Given the description of an element on the screen output the (x, y) to click on. 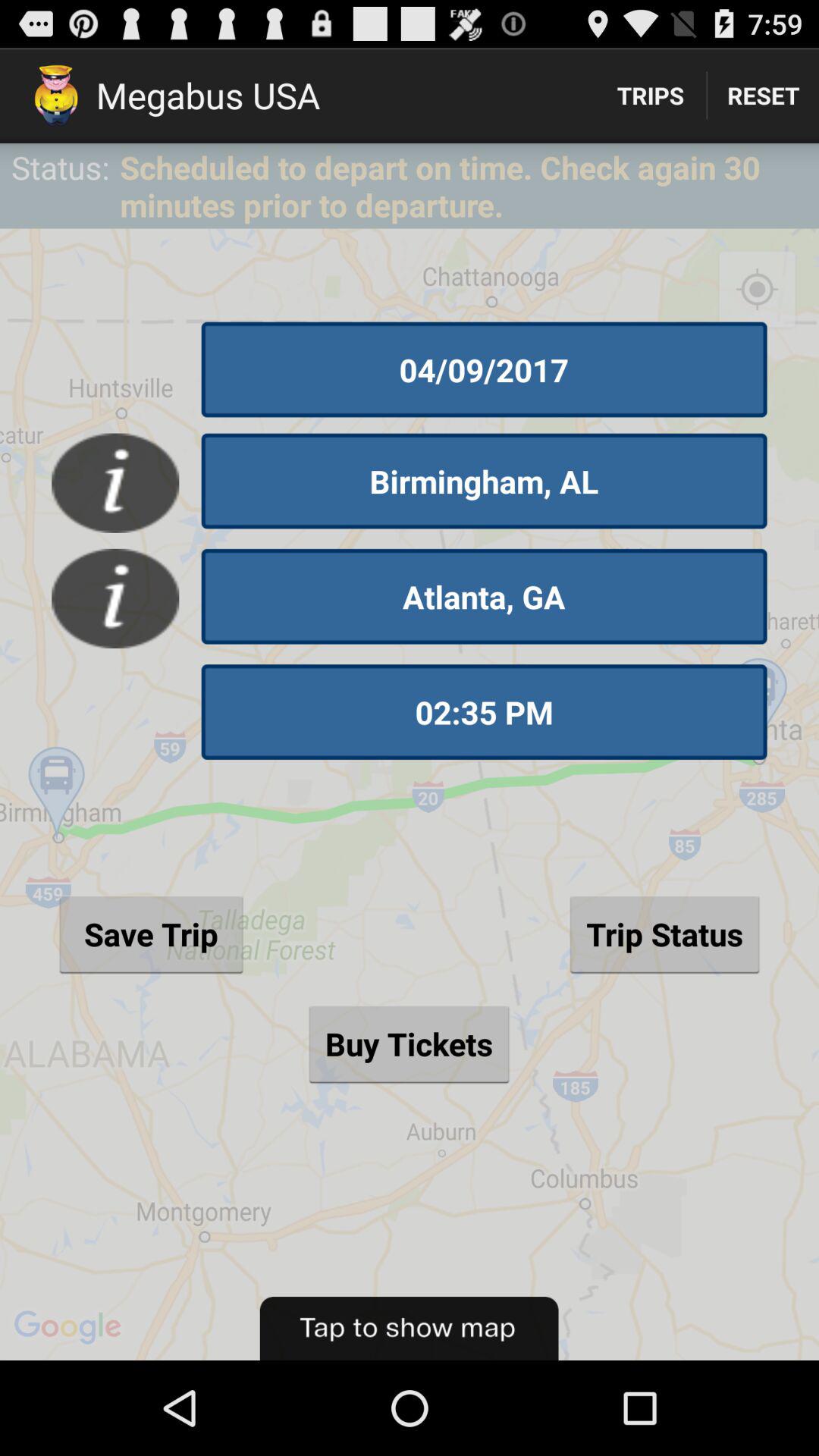
open the 04/09/2017 (484, 369)
